Given the description of an element on the screen output the (x, y) to click on. 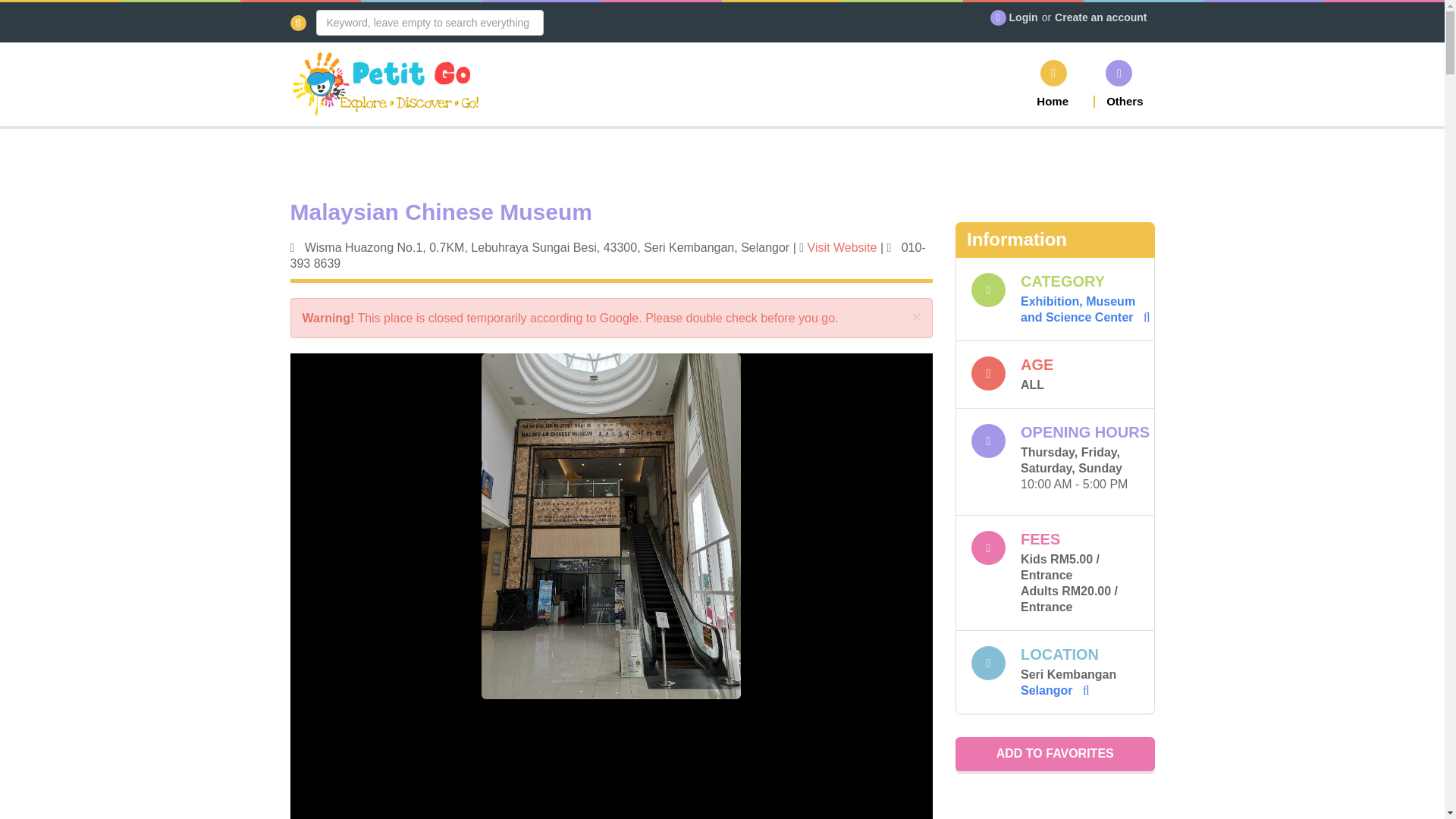
Login (1023, 17)
Malaysian Chinese Museum     (611, 226)
Visit Website (842, 246)
Create an account (1100, 17)
Exhibition, Museum and Science Center   (1085, 308)
ADD TO FAVORITES (1054, 754)
Selangor   (1054, 689)
Home (1052, 83)
